Given the description of an element on the screen output the (x, y) to click on. 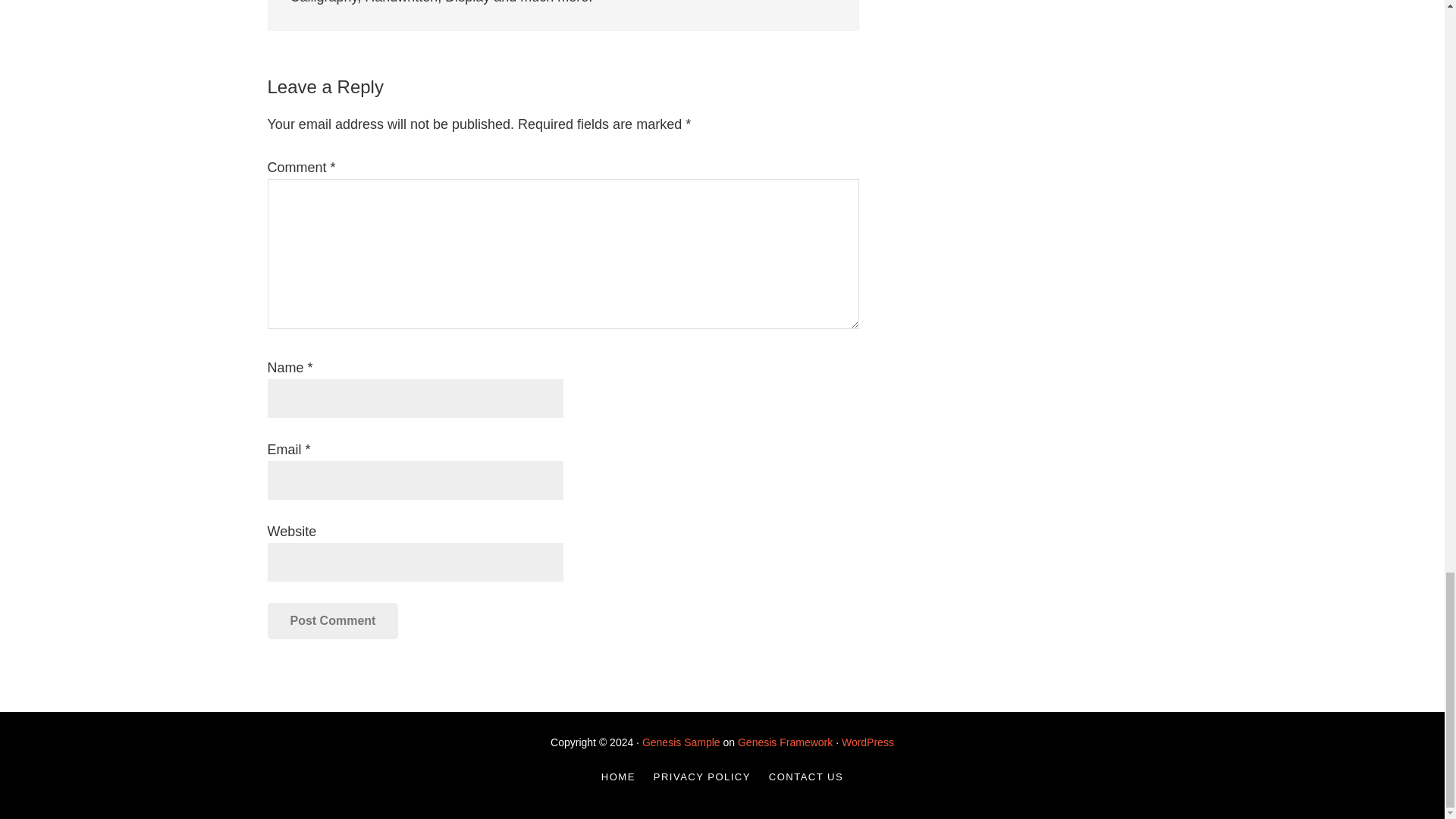
Post Comment (331, 620)
